Given the description of an element on the screen output the (x, y) to click on. 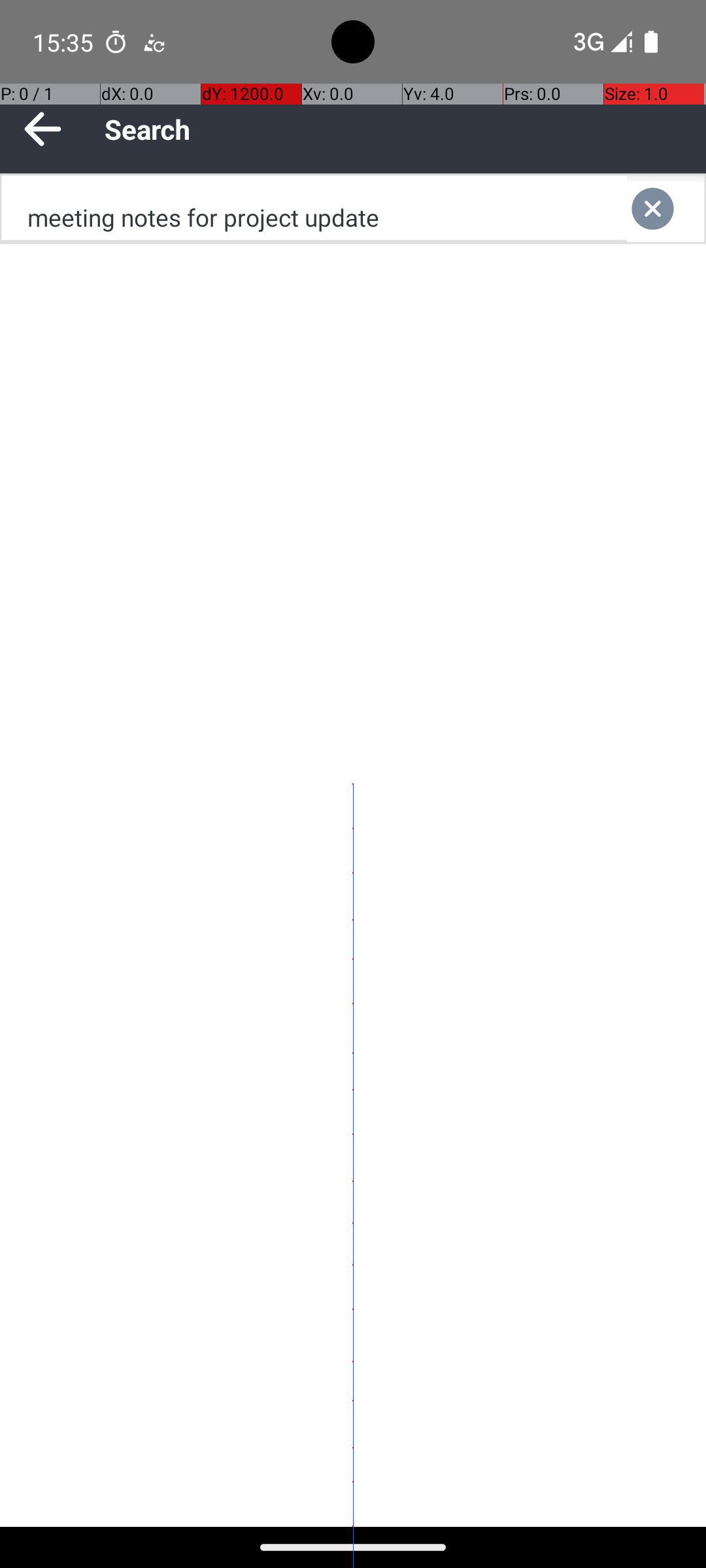
meeting notes for project update Element type: android.widget.EditText (313, 208)
